Given the description of an element on the screen output the (x, y) to click on. 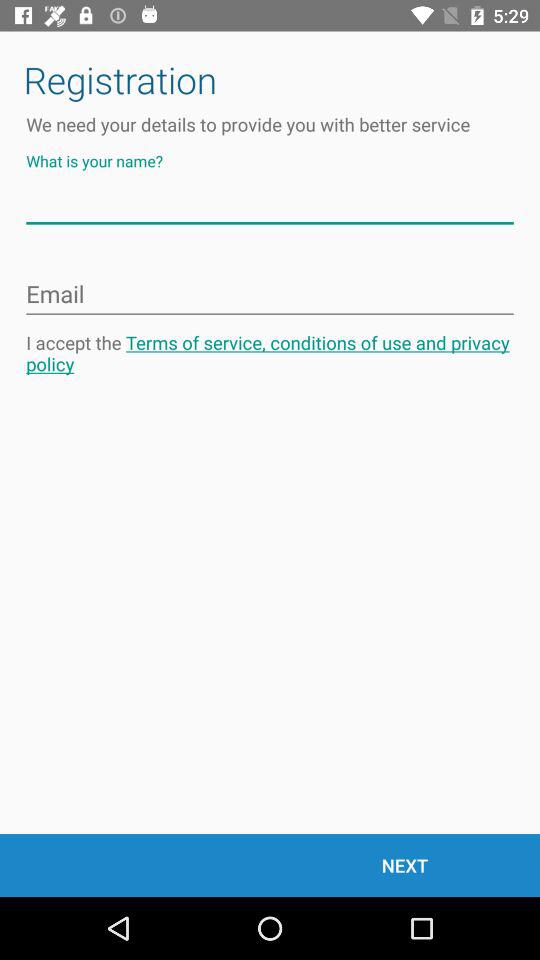
insert email address (270, 295)
